Given the description of an element on the screen output the (x, y) to click on. 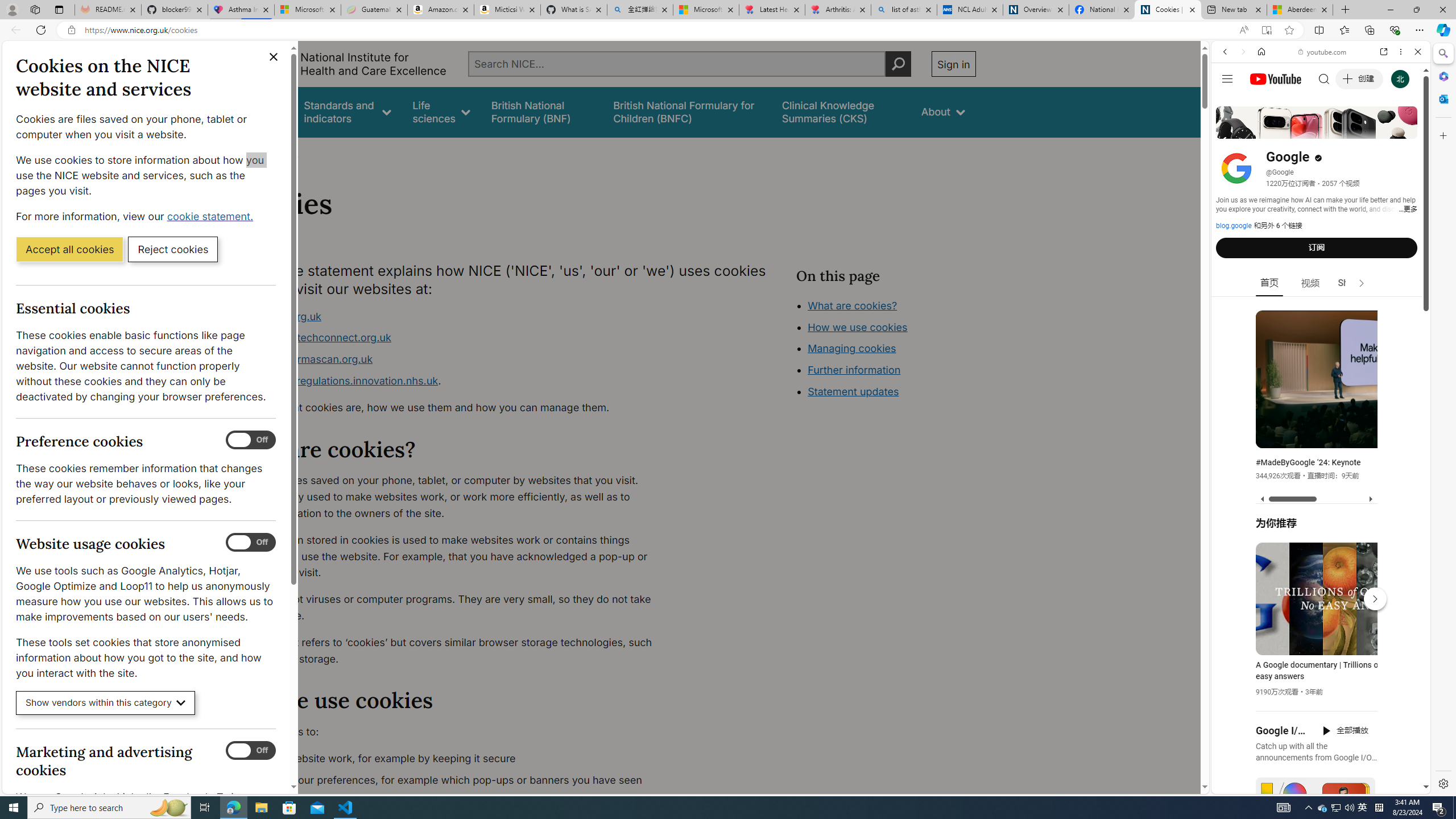
Guidance (260, 111)
make our website work, for example by keeping it secure (452, 759)
Google (1320, 281)
About (942, 111)
WEB   (1230, 130)
Home> (246, 152)
